Given the description of an element on the screen output the (x, y) to click on. 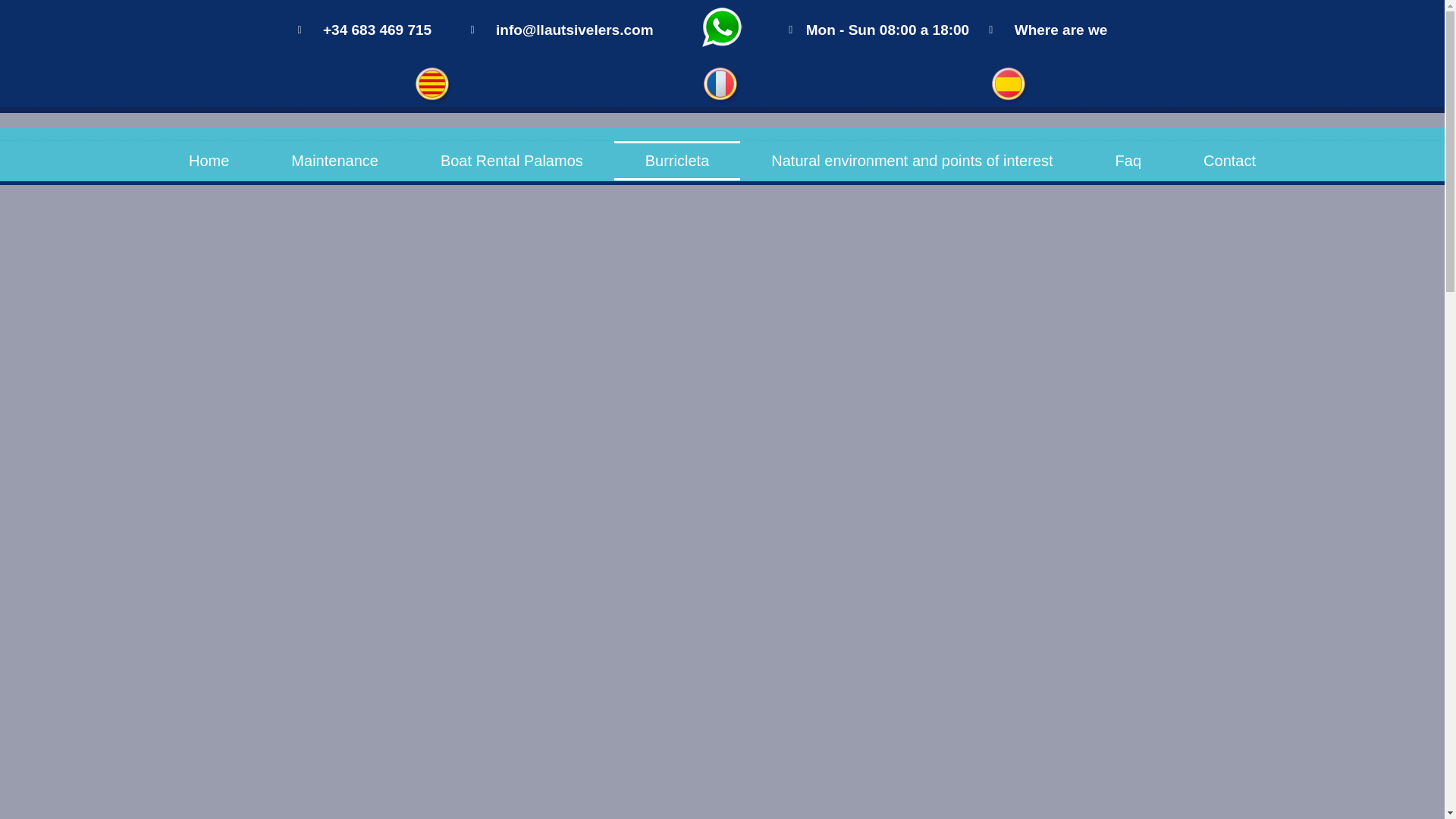
Contact (1229, 160)
Natural environment and points of interest (911, 160)
Faq (1128, 160)
Where are we (1047, 30)
cat.png (433, 86)
Maintenance (334, 160)
Boat Rental Palamos (511, 160)
france.png (722, 86)
spain (1010, 86)
Burricleta (676, 160)
Home (208, 160)
